Given the description of an element on the screen output the (x, y) to click on. 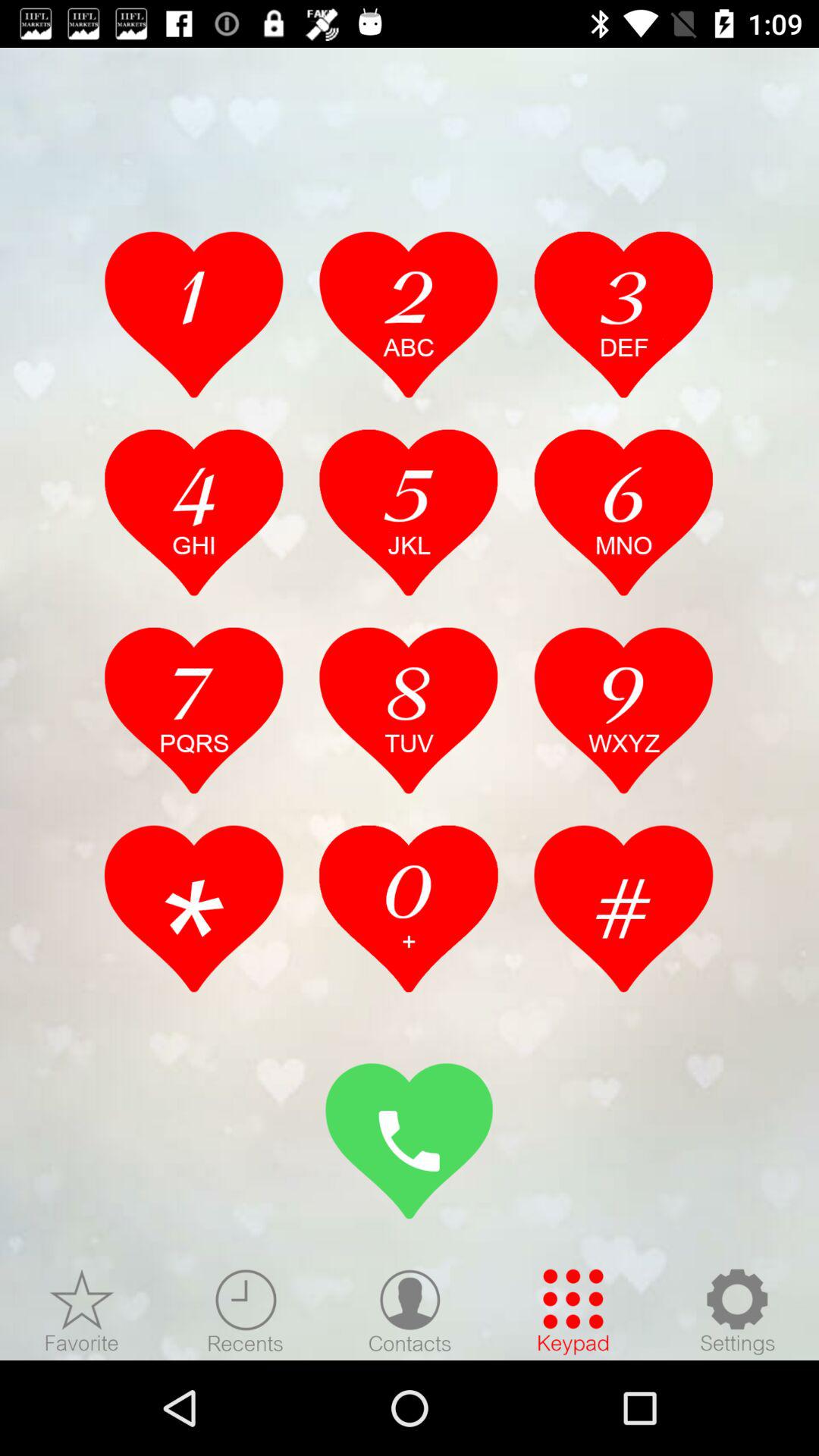
check setting option (737, 1311)
